Given the description of an element on the screen output the (x, y) to click on. 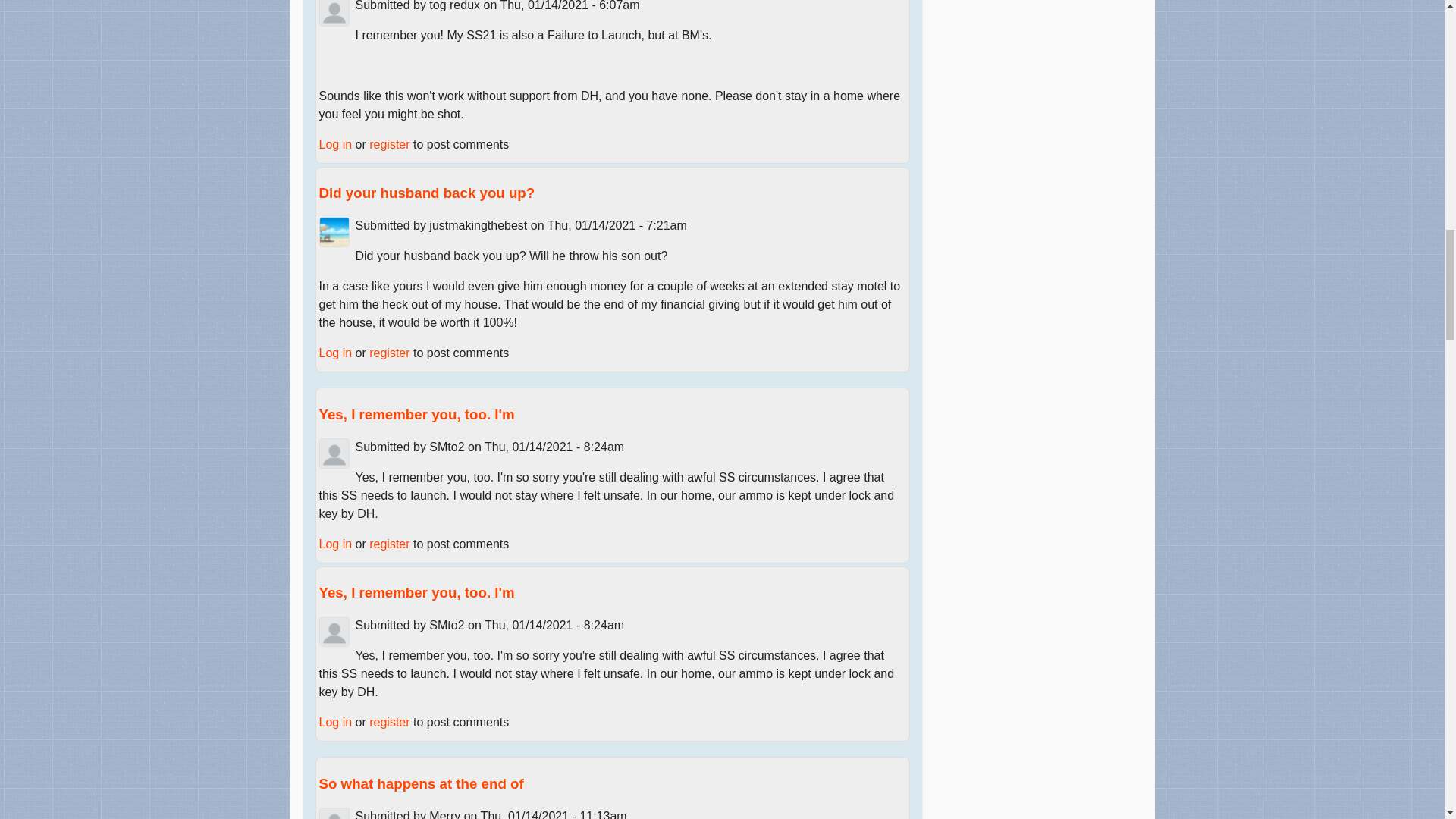
register (389, 543)
Did your husband back you up? (426, 192)
Yes, I remember you, too. I'm (415, 414)
SMto2's picture (333, 453)
tog redux's picture (333, 13)
justmakingthebest's picture (333, 232)
Log in (335, 144)
register (389, 352)
register (389, 144)
Log in (335, 543)
Log in (335, 352)
